Given the description of an element on the screen output the (x, y) to click on. 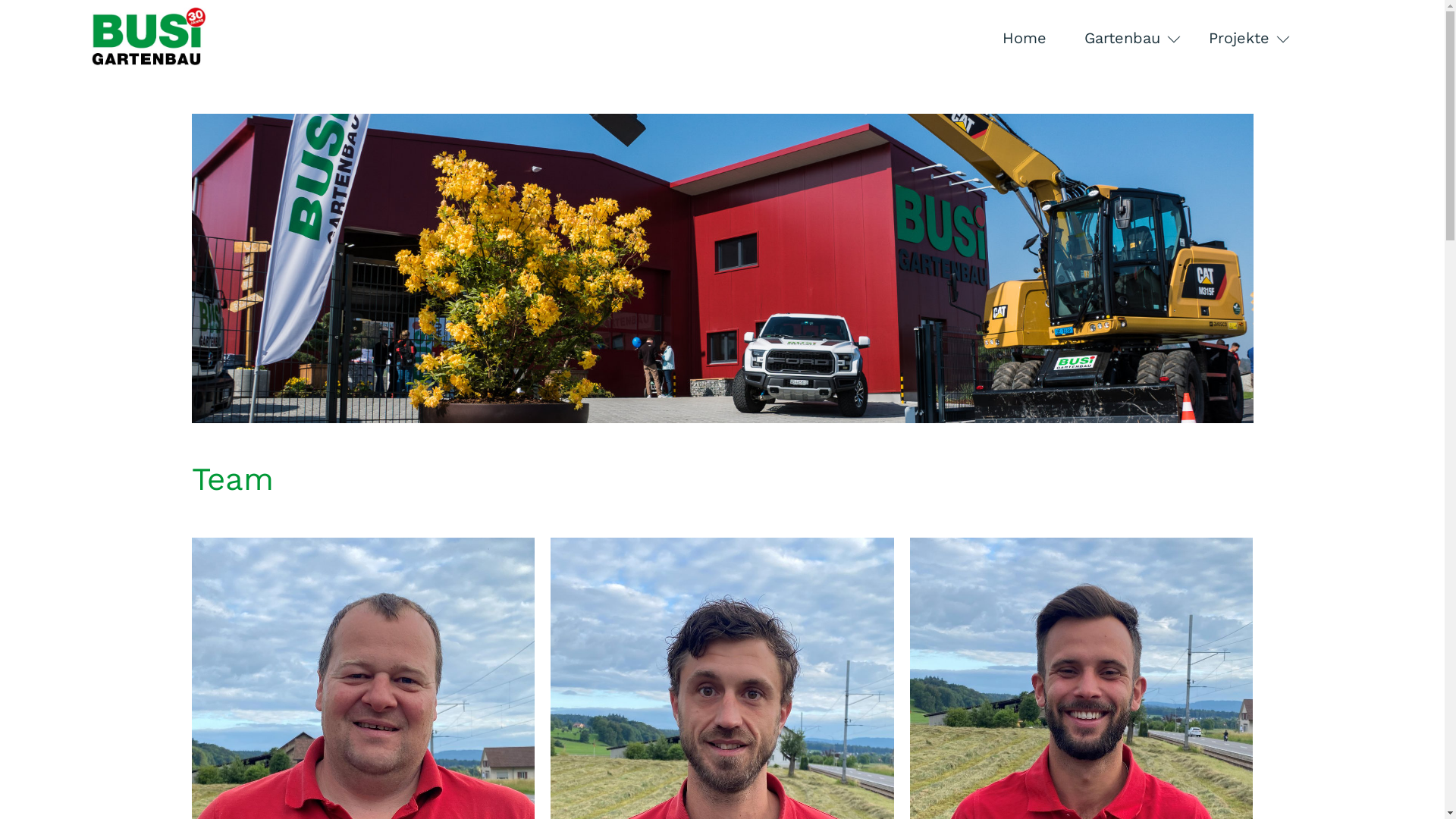
Gartenbau Element type: text (1126, 37)
Home Element type: text (1023, 37)
Projekte Element type: text (1243, 37)
